Given the description of an element on the screen output the (x, y) to click on. 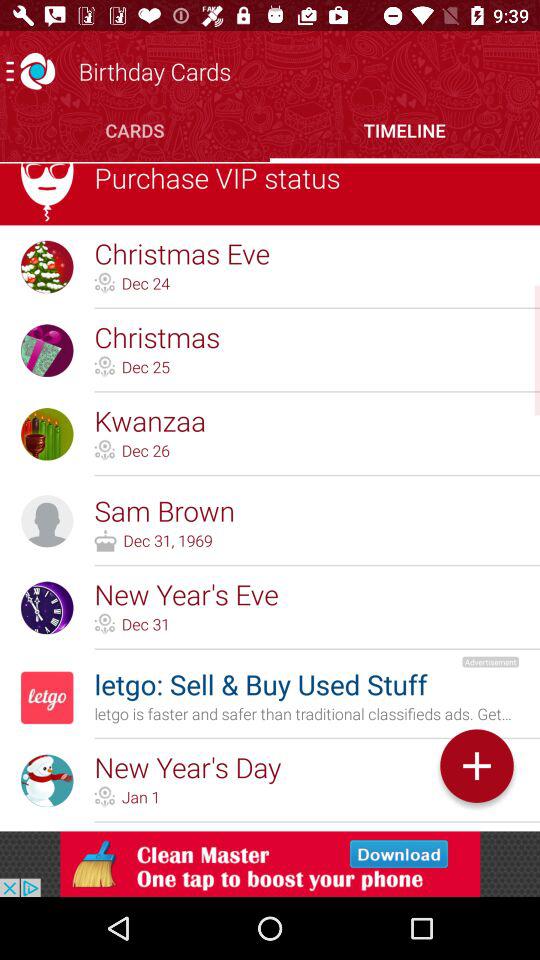
select the icon of new years eve (47, 607)
click the icon which left to the jan 1 (105, 797)
select the icon which is left to the dec 26 (105, 450)
go to the icon which left to the  dec 31 1969 (106, 540)
